Given the description of an element on the screen output the (x, y) to click on. 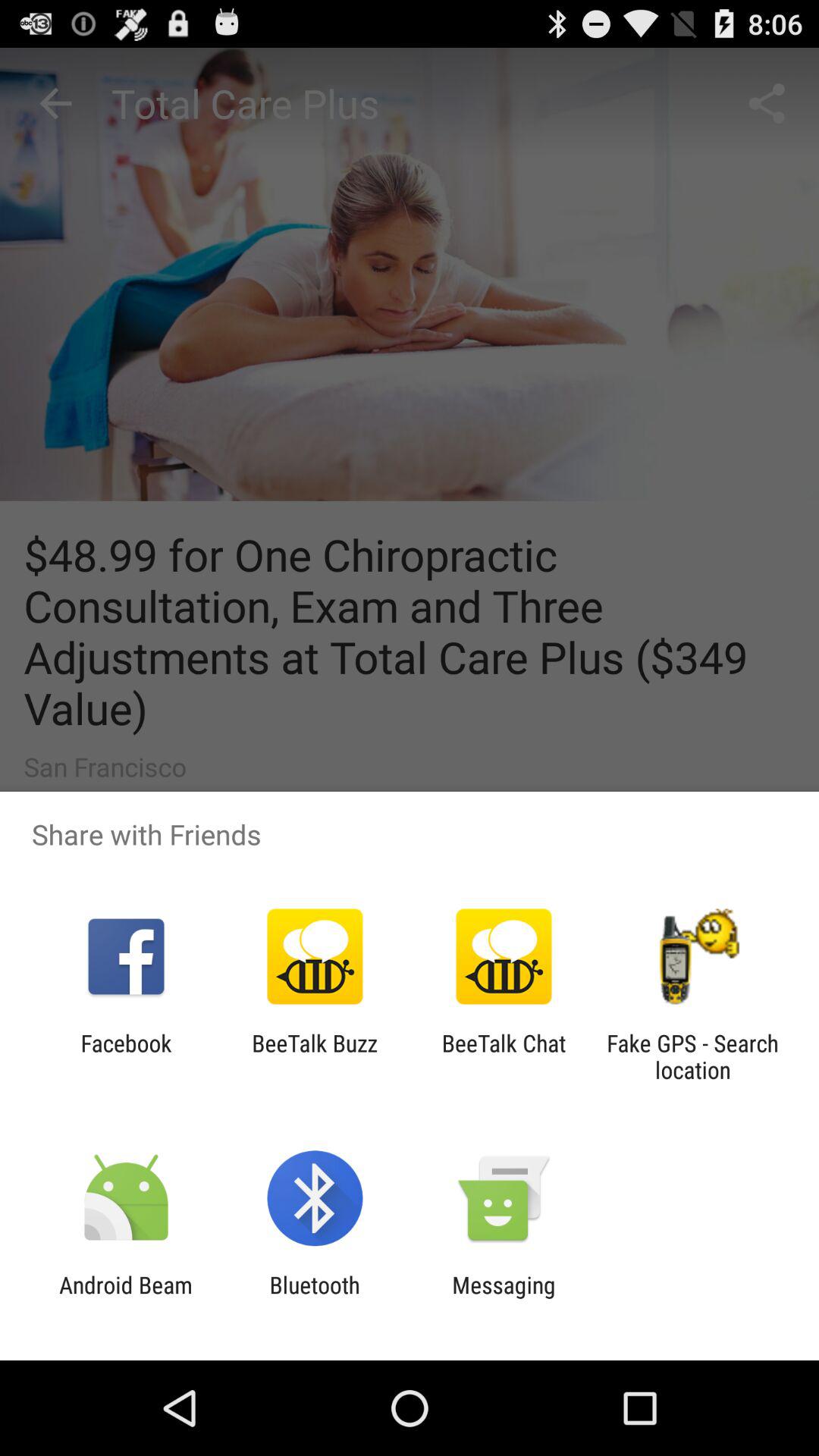
choose the app to the left of the fake gps search item (503, 1056)
